Given the description of an element on the screen output the (x, y) to click on. 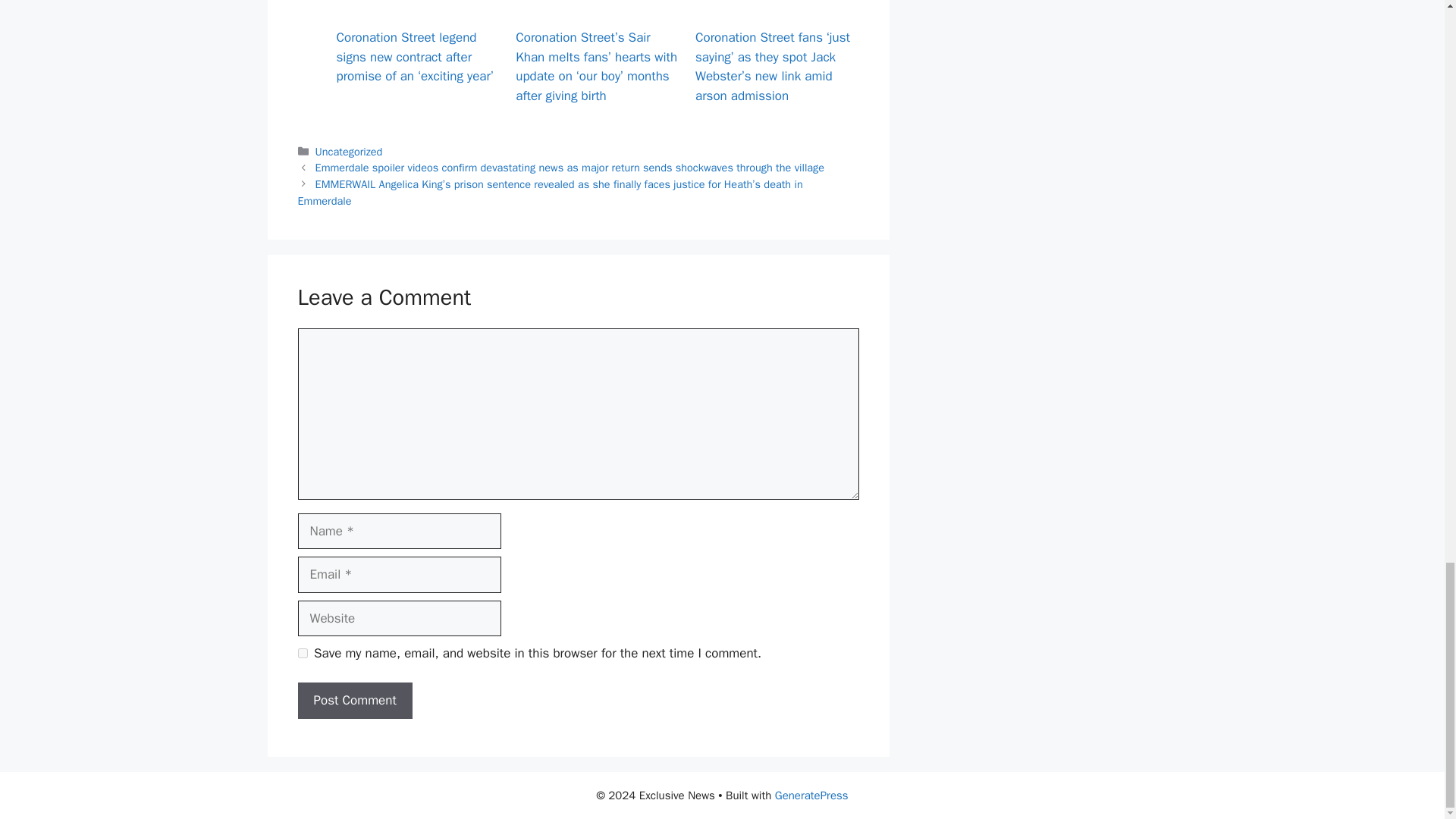
yes (302, 653)
Post Comment (354, 700)
Uncategorized (348, 151)
Post Comment (354, 700)
